Given the description of an element on the screen output the (x, y) to click on. 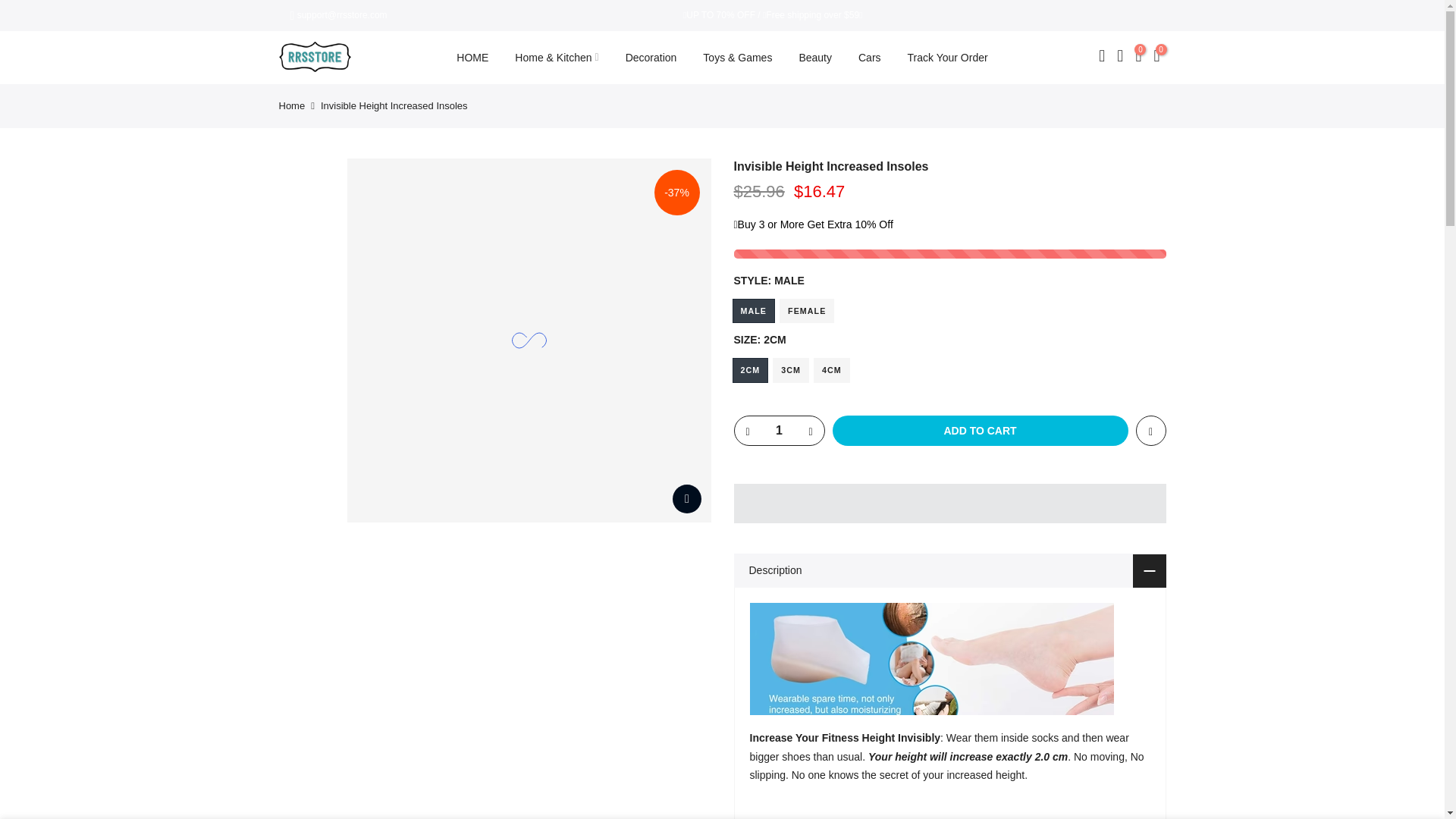
Beauty (815, 57)
Cars (868, 57)
HOME (473, 57)
1 (778, 430)
Decoration (650, 57)
Description (949, 570)
0 (1138, 57)
Home (292, 105)
ADD TO CART (980, 430)
Track Your Order (947, 57)
